Given the description of an element on the screen output the (x, y) to click on. 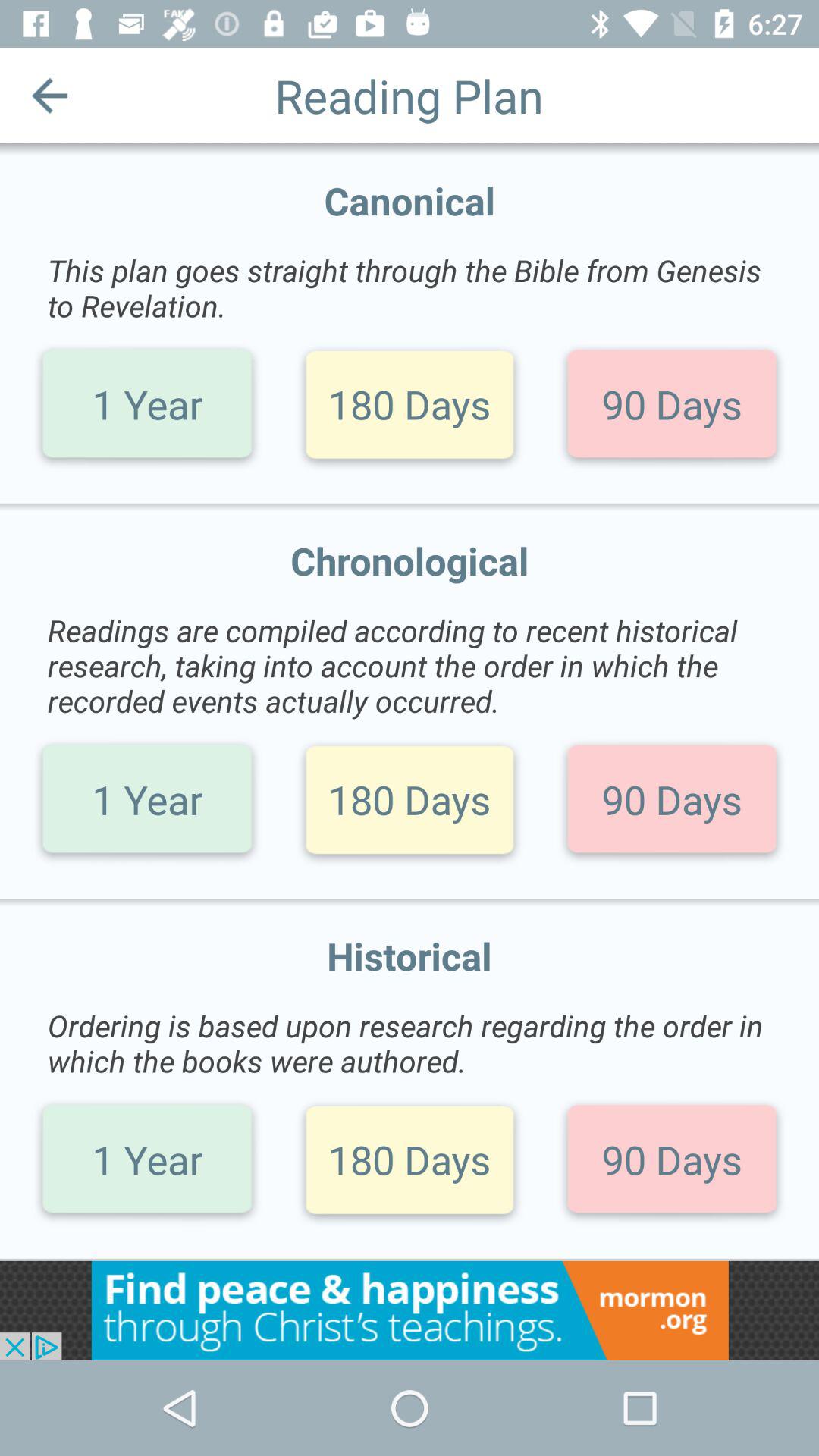
view advertisement (409, 1310)
